Given the description of an element on the screen output the (x, y) to click on. 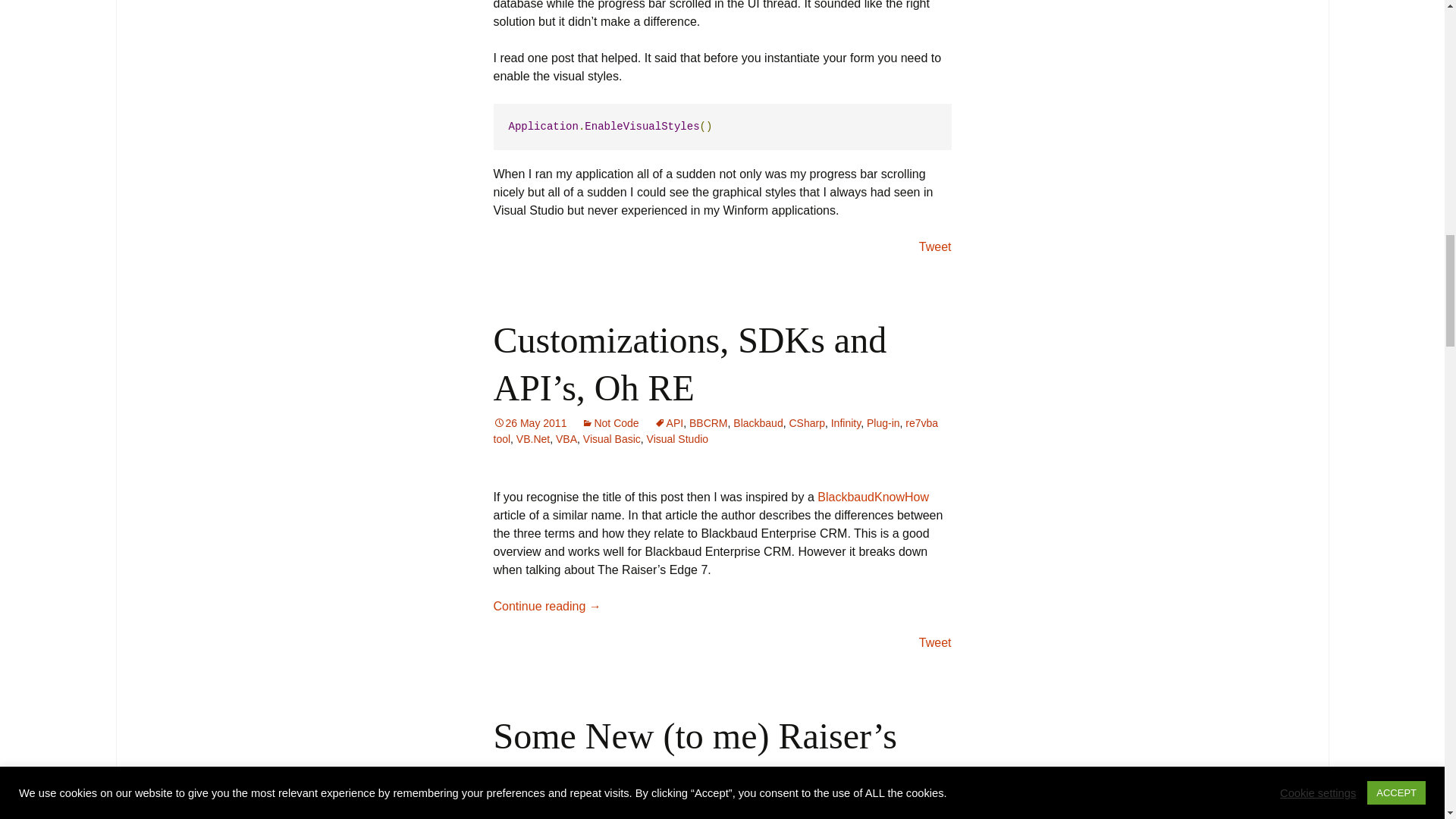
re7vba tool (715, 430)
VBA (566, 439)
CSharp (806, 422)
Tweet (935, 246)
Infinity (845, 422)
BBCRM (708, 422)
Plug-in (882, 422)
Blackbaud (758, 422)
26 May 2011 (529, 422)
BlackbaudKnowHow (872, 496)
